Given the description of an element on the screen output the (x, y) to click on. 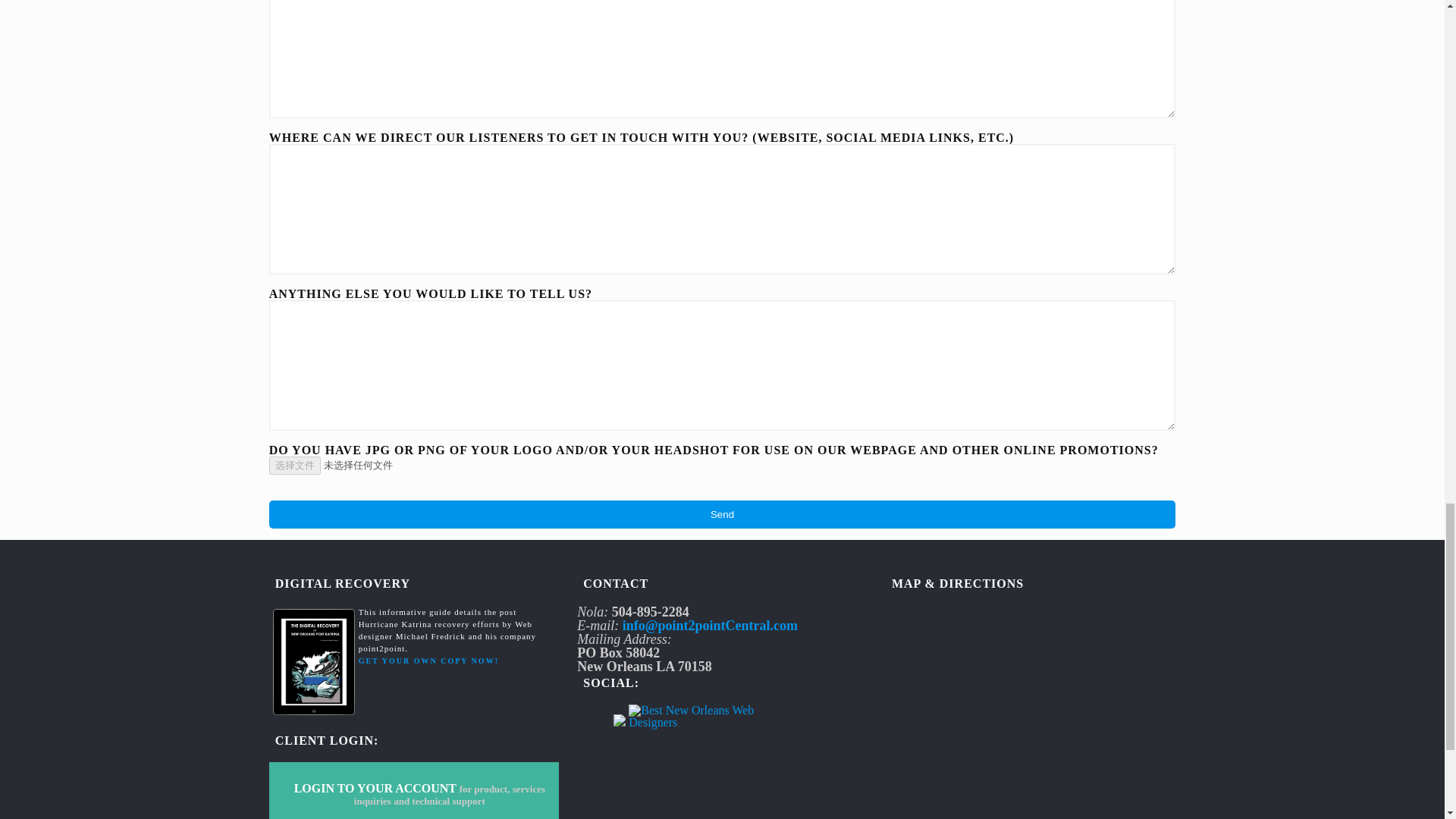
Send (722, 514)
